Given the description of an element on the screen output the (x, y) to click on. 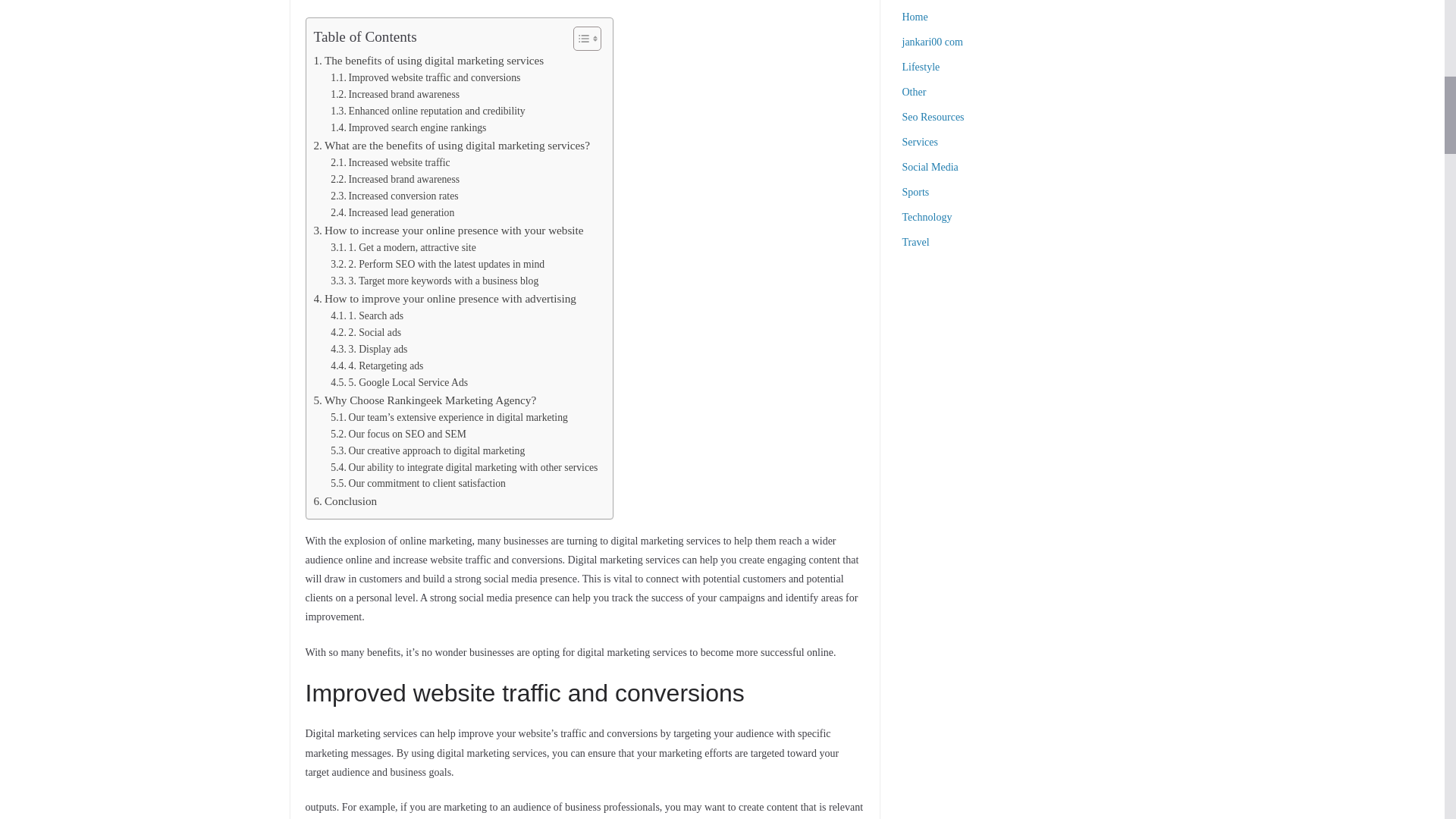
What are the benefits of using digital marketing services? (451, 145)
Improved search engine rankings (408, 127)
Increased website traffic (389, 162)
Improved website traffic and conversions (424, 77)
Increased brand awareness (395, 94)
Increased brand awareness (395, 94)
Enhanced online reputation and credibility (427, 111)
Enhanced online reputation and credibility (427, 111)
Improved search engine rankings (408, 127)
Increased conversion rates (394, 196)
Increased conversion rates (394, 196)
Increased website traffic (389, 162)
Increased lead generation (392, 212)
How to increase your online presence with your website (448, 230)
Increased brand awareness (395, 179)
